Given the description of an element on the screen output the (x, y) to click on. 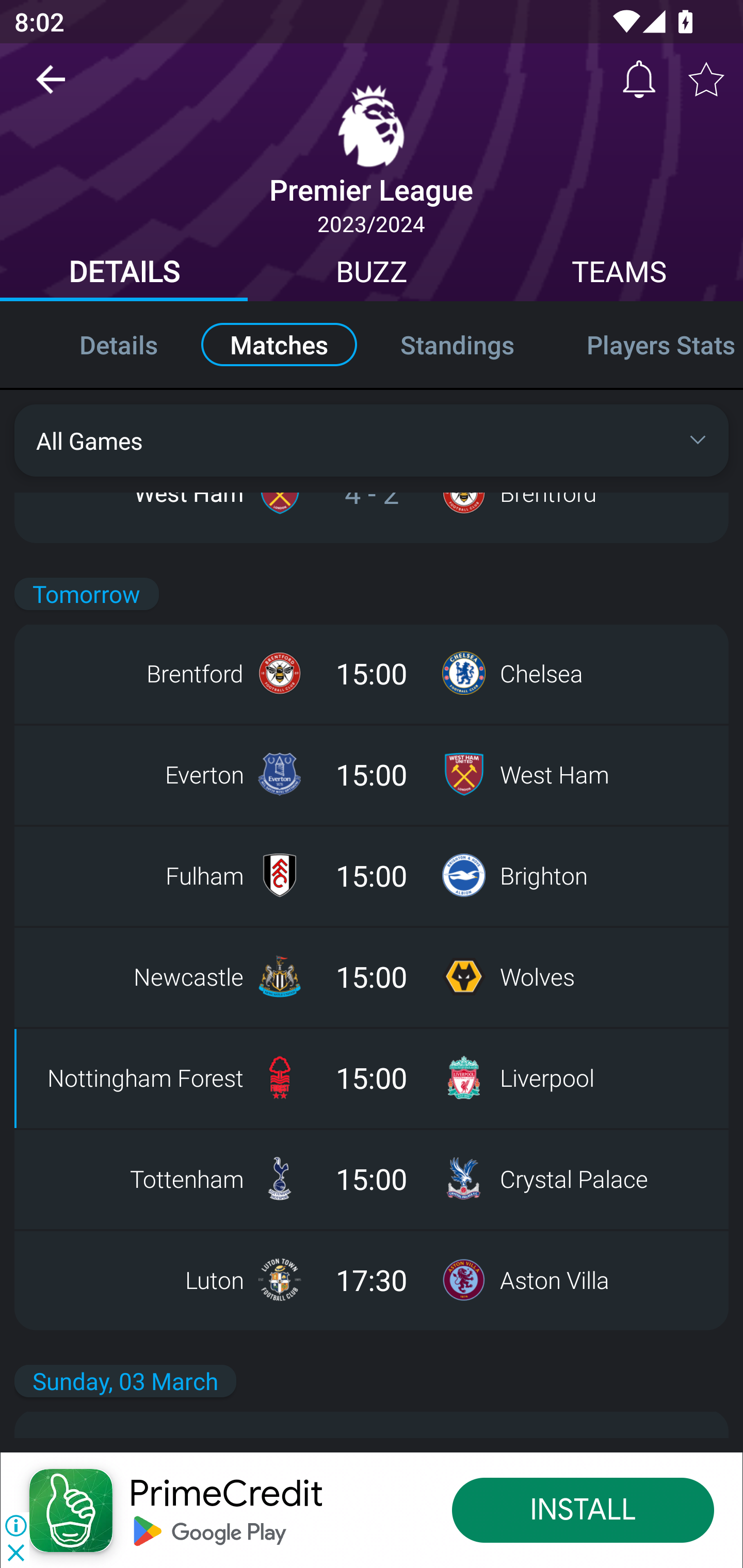
Navigate up (50, 86)
DETAILS (123, 274)
BUZZ (371, 274)
TEAMS (619, 274)
Details (96, 344)
Wolves 1 - 0 Sheffield Utd (371, 331)
Standings (457, 344)
Players Stats (646, 344)
All Games (371, 440)
Brentford 15:00 Chelsea (371, 673)
Everton 15:00 West Ham (371, 774)
Fulham 15:00 Brighton (371, 874)
Newcastle 15:00 Wolves (371, 976)
Nottingham Forest 15:00 Liverpool (371, 1077)
Tottenham 15:00 Crystal Palace (371, 1178)
Luton 17:30 Aston Villa (371, 1279)
INSTALL (582, 1510)
